Given the description of an element on the screen output the (x, y) to click on. 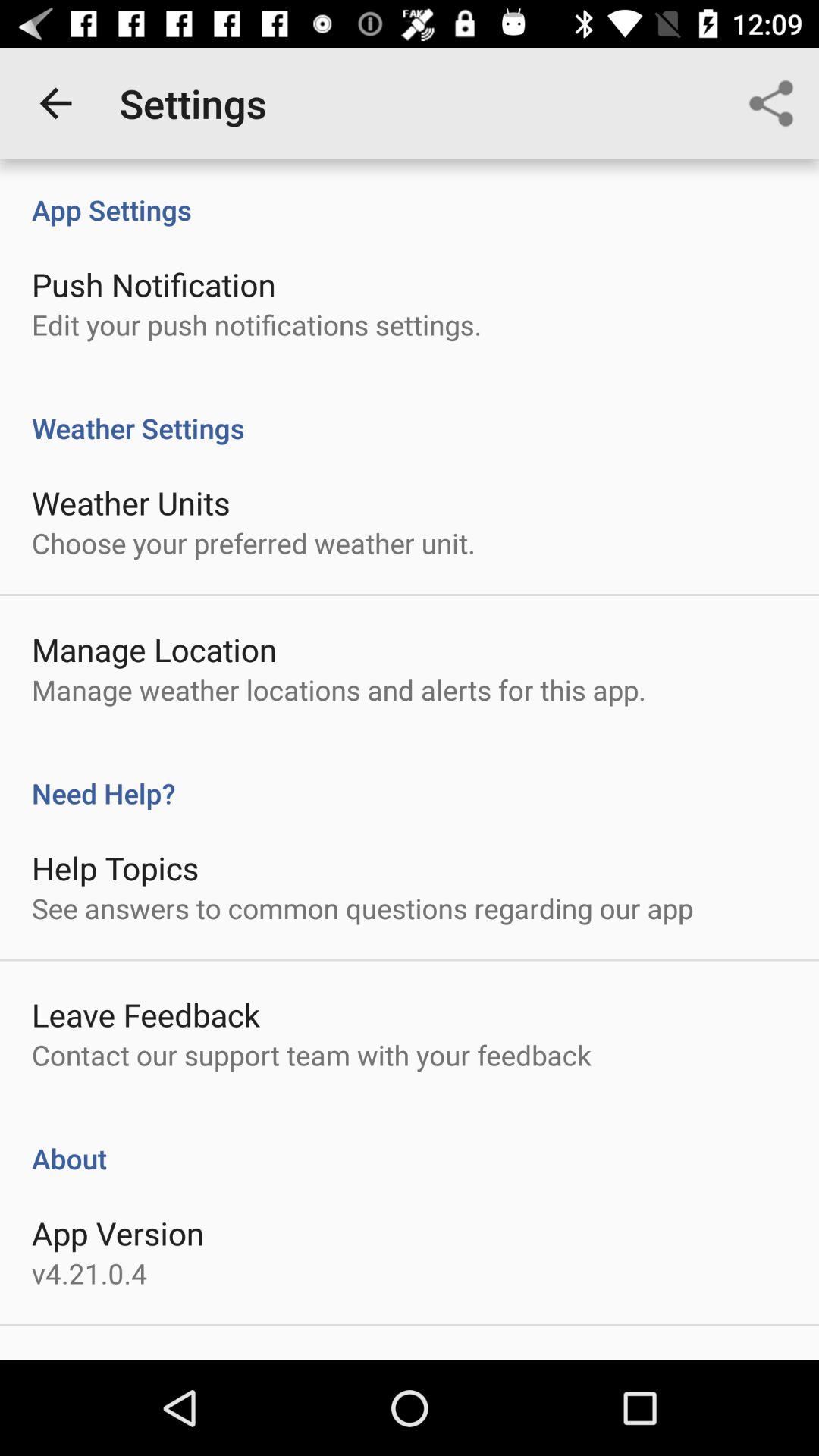
turn on push notification item (153, 283)
